Given the description of an element on the screen output the (x, y) to click on. 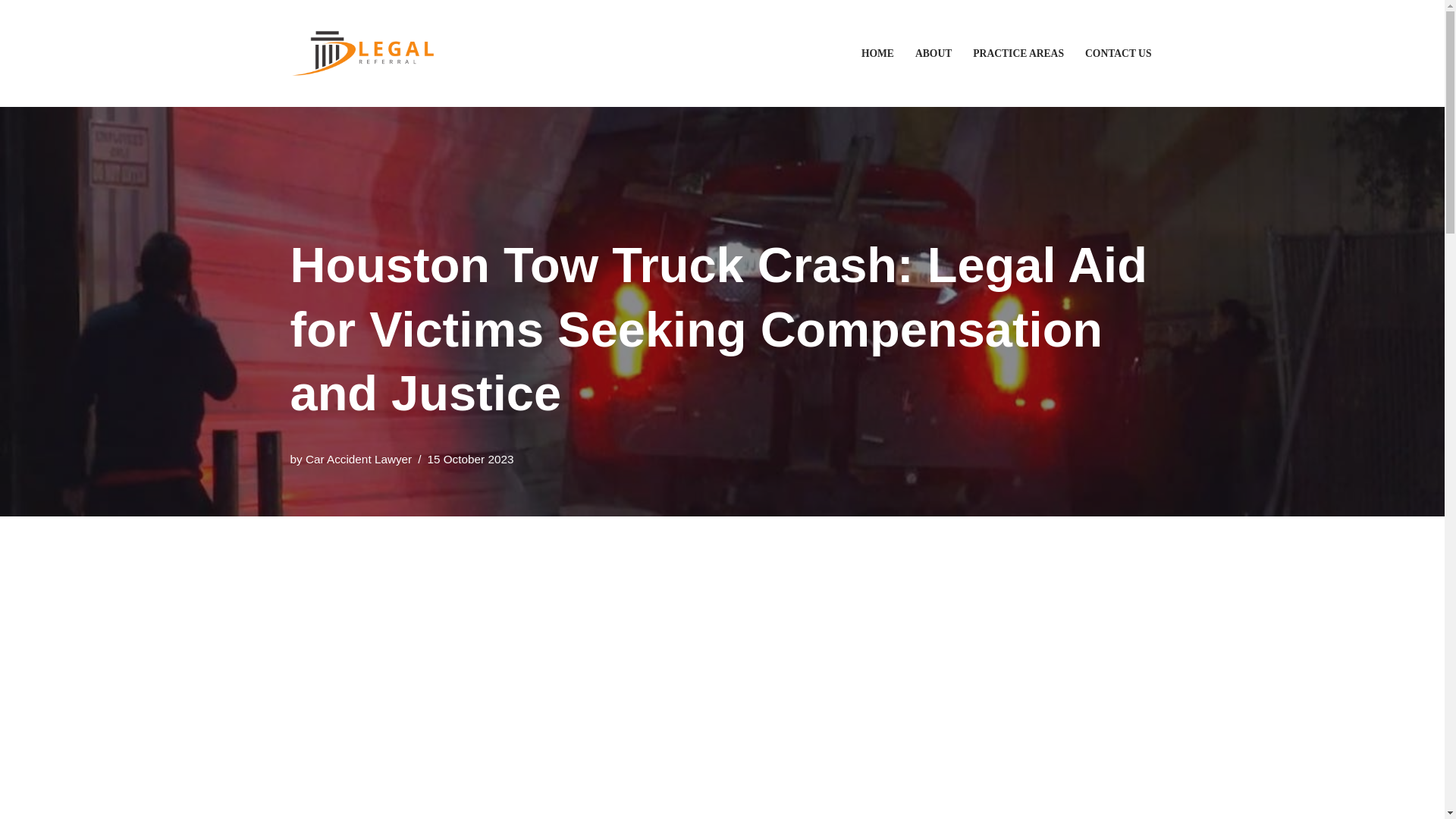
Skip to content (11, 31)
ABOUT (933, 53)
Car Accident Lawyer (358, 459)
CONTACT US (1117, 53)
Posts by Car Accident Lawyer (358, 459)
PRACTICE AREAS (1018, 53)
HOME (877, 53)
